Given the description of an element on the screen output the (x, y) to click on. 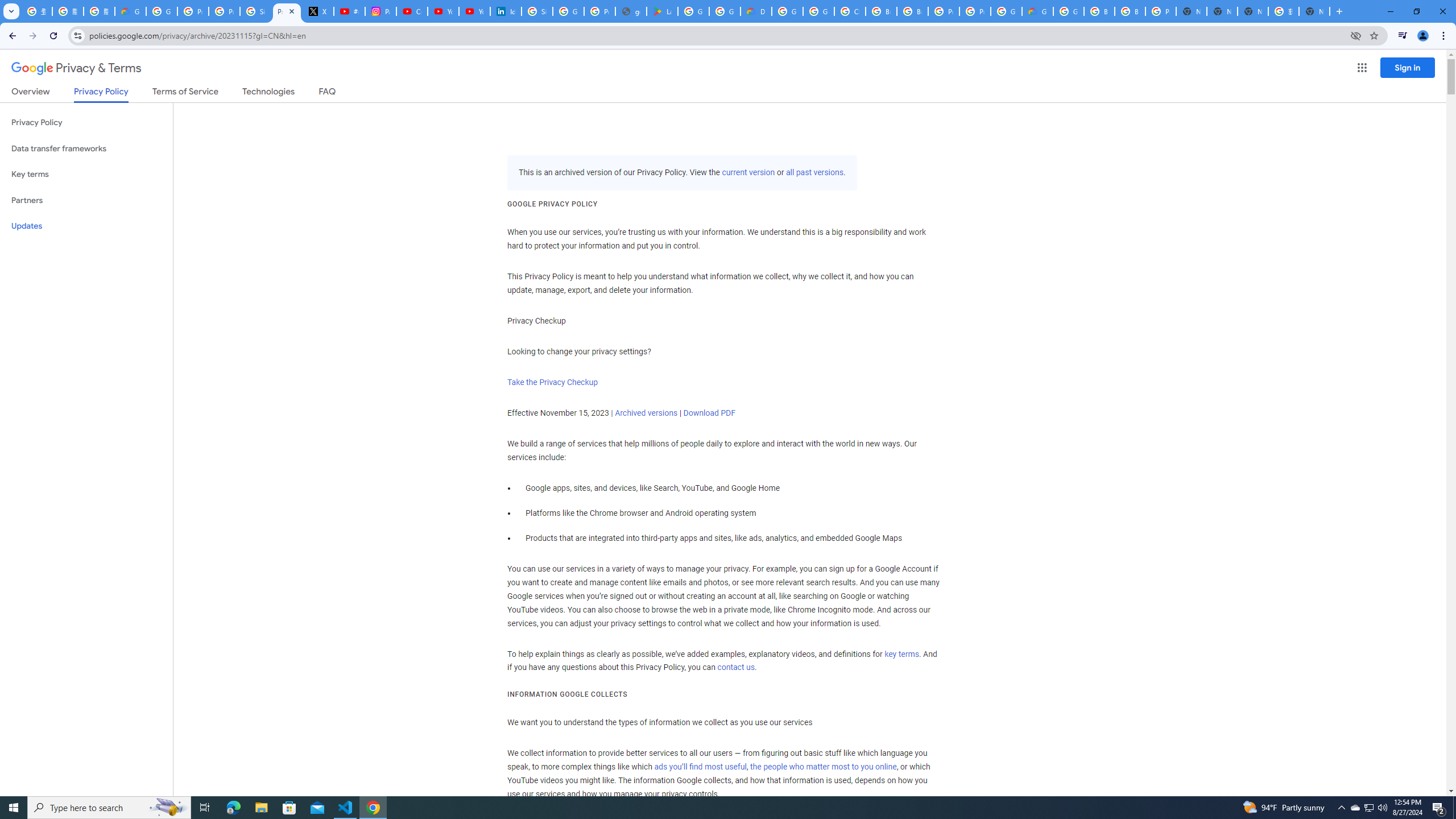
contact us (735, 667)
YouTube Culture & Trends - YouTube Top 10, 2021 (474, 11)
current version (748, 172)
New Tab (1314, 11)
Google Cloud Platform (787, 11)
